Given the description of an element on the screen output the (x, y) to click on. 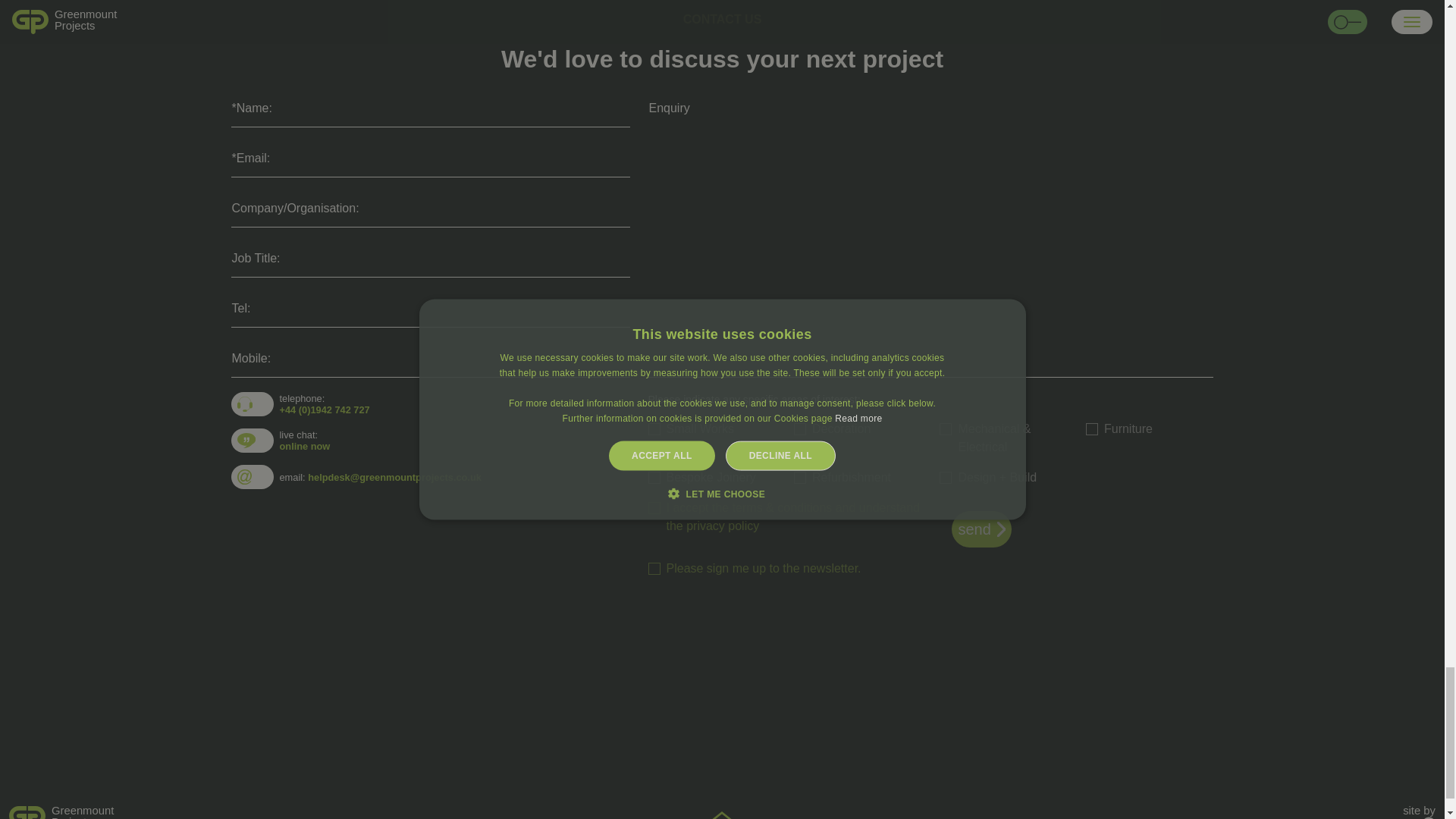
Refurbishment (799, 477)
Bespoke Joinery (653, 477)
site by (1419, 812)
Furniture (1091, 428)
Small Works (653, 428)
on (653, 508)
online now (240, 812)
Decoration (304, 446)
on (799, 428)
send (653, 568)
